Given the description of an element on the screen output the (x, y) to click on. 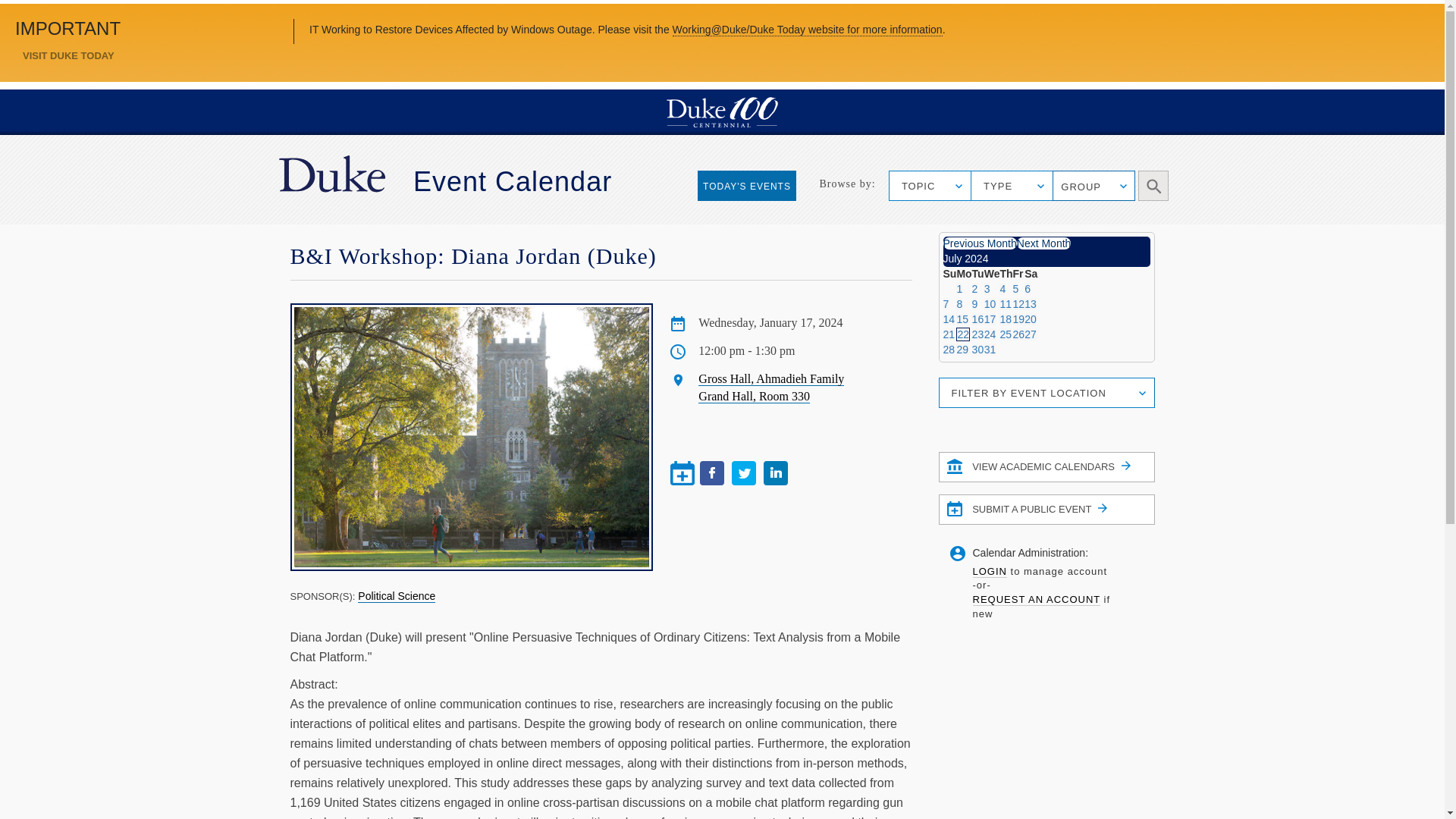
Event Calendar (512, 181)
Monday (963, 273)
Time (678, 351)
Gross Hall, Ahmadieh Family Grand Hall, Room 330 (771, 387)
15 (962, 318)
13 (1030, 304)
Saturday (1030, 273)
11 (1004, 304)
Location (678, 379)
VISIT DUKE TODAY (66, 55)
Event Image (470, 436)
10 (989, 304)
14 (949, 318)
Wednesday (992, 273)
